Given the description of an element on the screen output the (x, y) to click on. 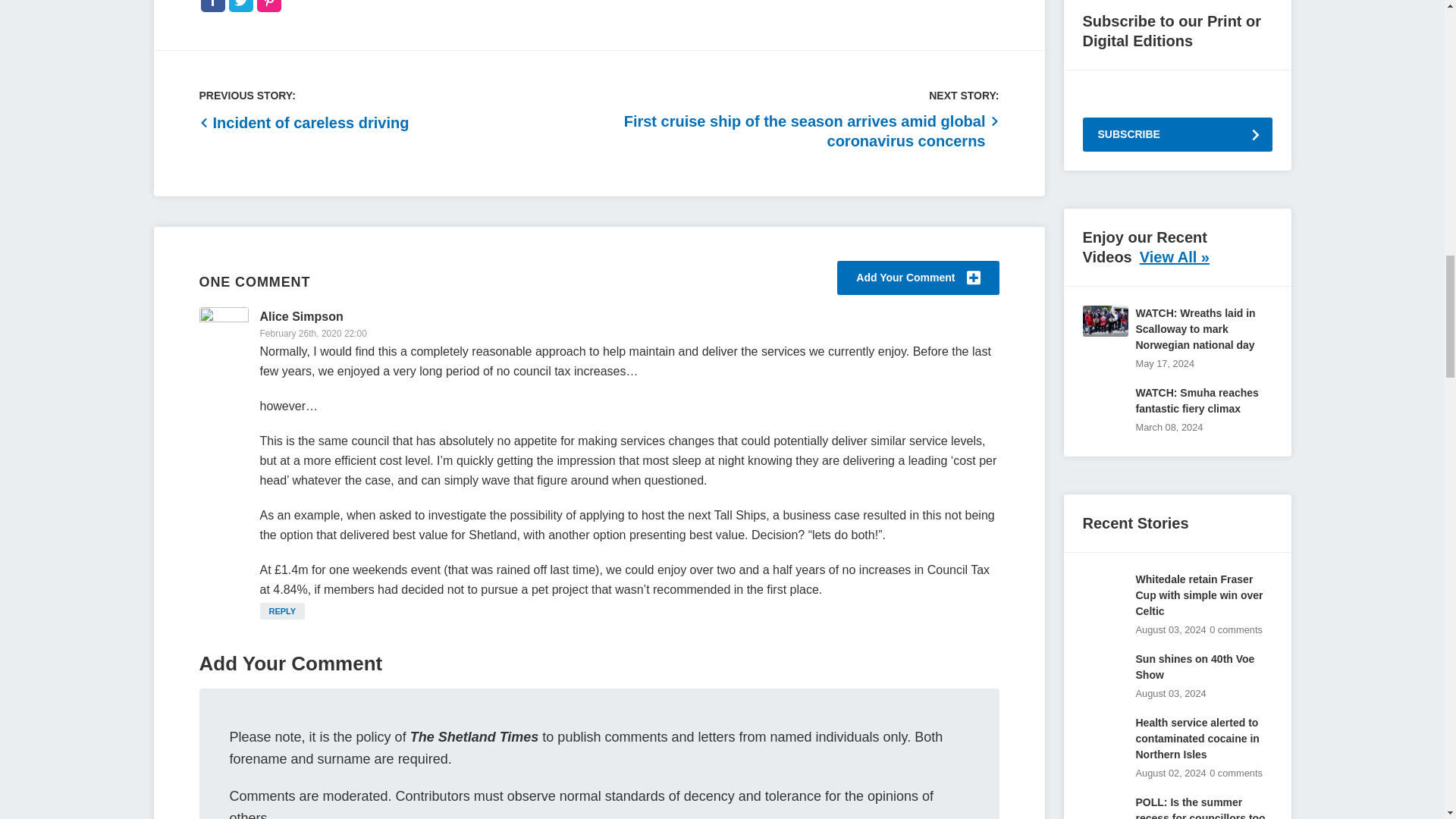
Incident of careless driving (303, 122)
Alice Simpson (300, 316)
Add Your Comment (917, 277)
REPLY (281, 610)
